Given the description of an element on the screen output the (x, y) to click on. 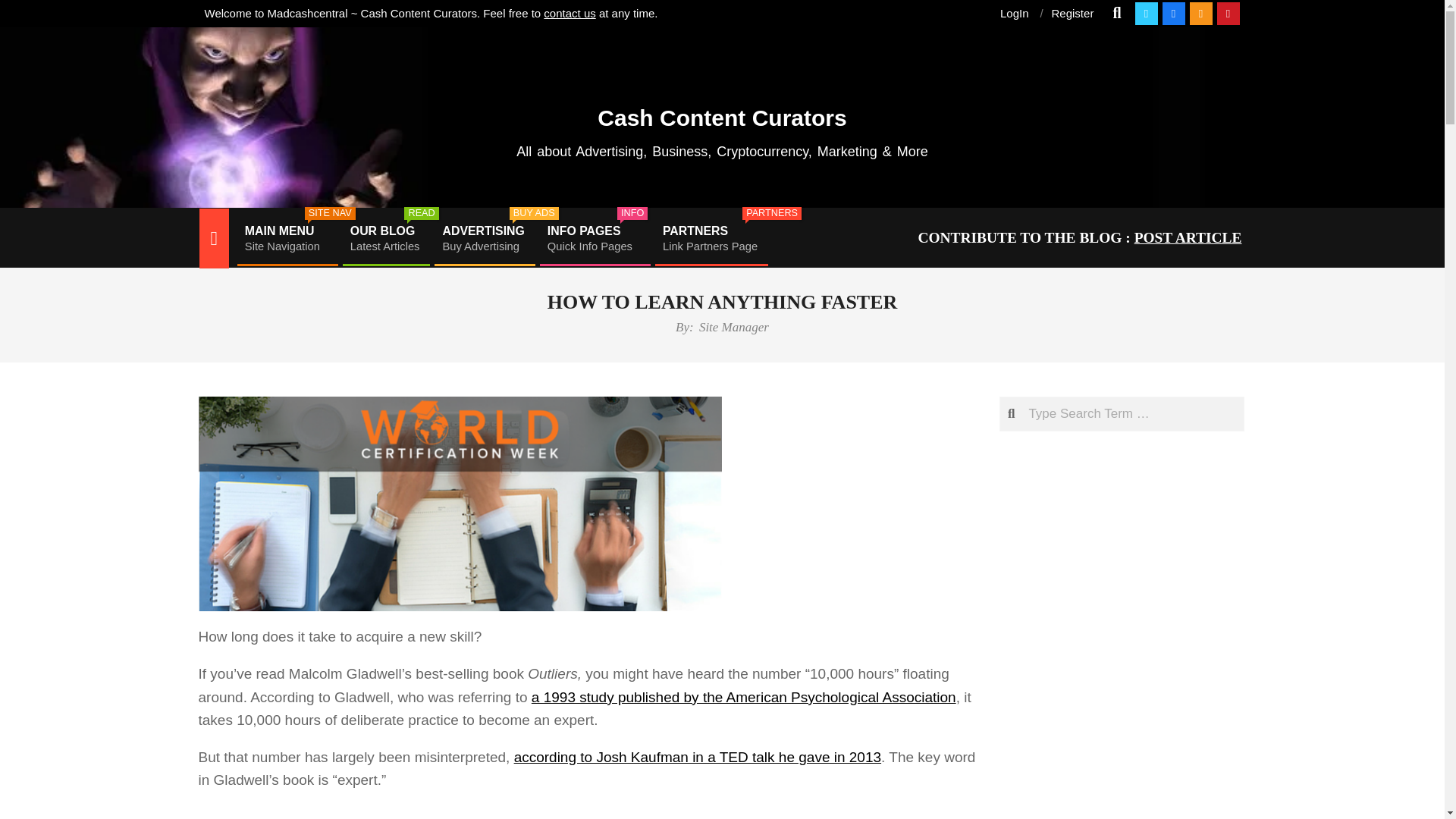
Posts by Site Manager (482, 238)
Quick Info Pages (733, 327)
Register (285, 238)
LogIn (592, 238)
Site Navigation (592, 238)
Search (1072, 12)
